Given the description of an element on the screen output the (x, y) to click on. 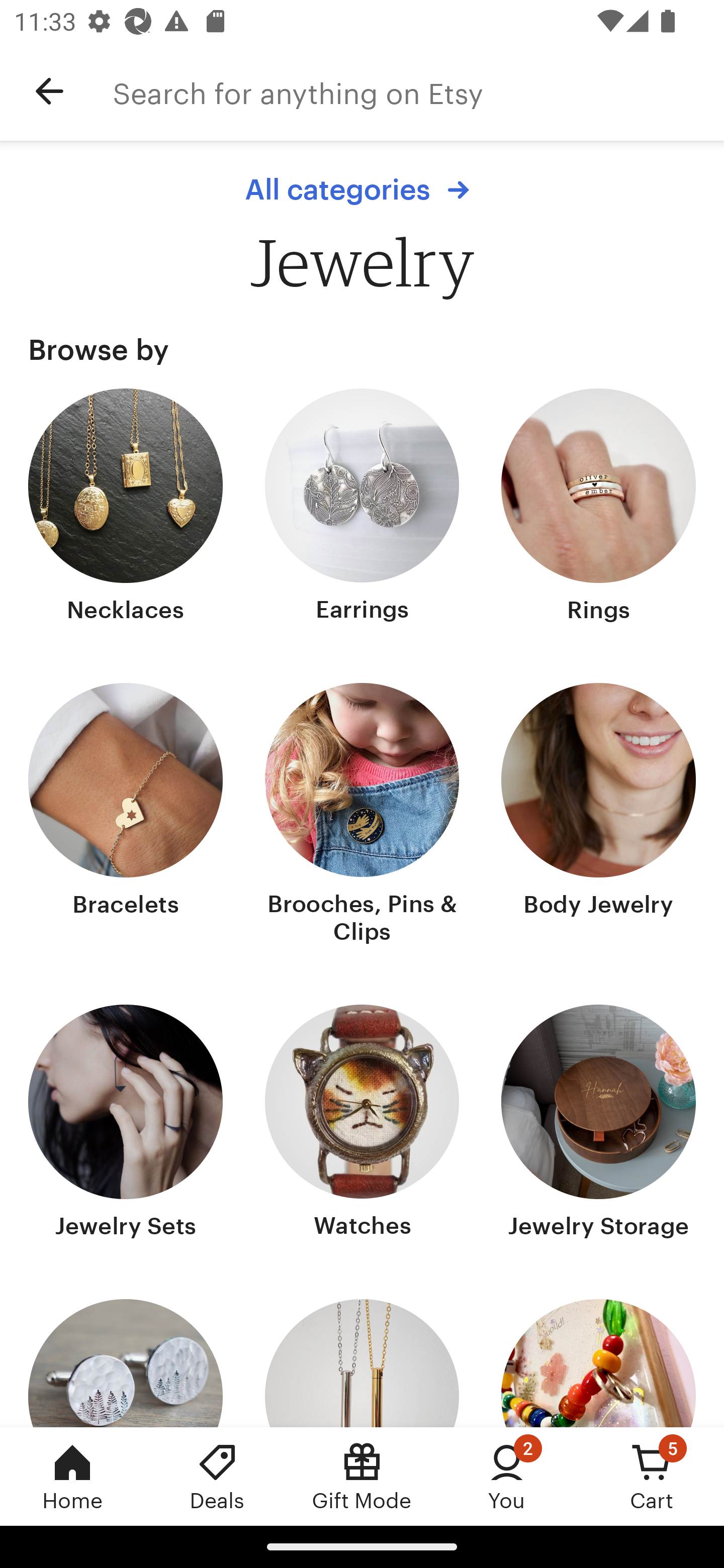
Navigate up (49, 91)
Search for anything on Etsy (418, 91)
All categories (361, 189)
Necklaces (125, 507)
Earrings (361, 507)
Rings (598, 507)
Bracelets (125, 815)
Brooches, Pins & Clips (361, 815)
Body Jewelry (598, 815)
Jewelry Sets (125, 1124)
Watches (361, 1124)
Jewelry Storage (598, 1124)
Cuff Links & Tie Clips (125, 1362)
Cremation & Memorial Jewelry (361, 1362)
Smart Jewelry (598, 1362)
Deals (216, 1475)
Gift Mode (361, 1475)
You, 2 new notifications You (506, 1475)
Cart, 5 new notifications Cart (651, 1475)
